Given the description of an element on the screen output the (x, y) to click on. 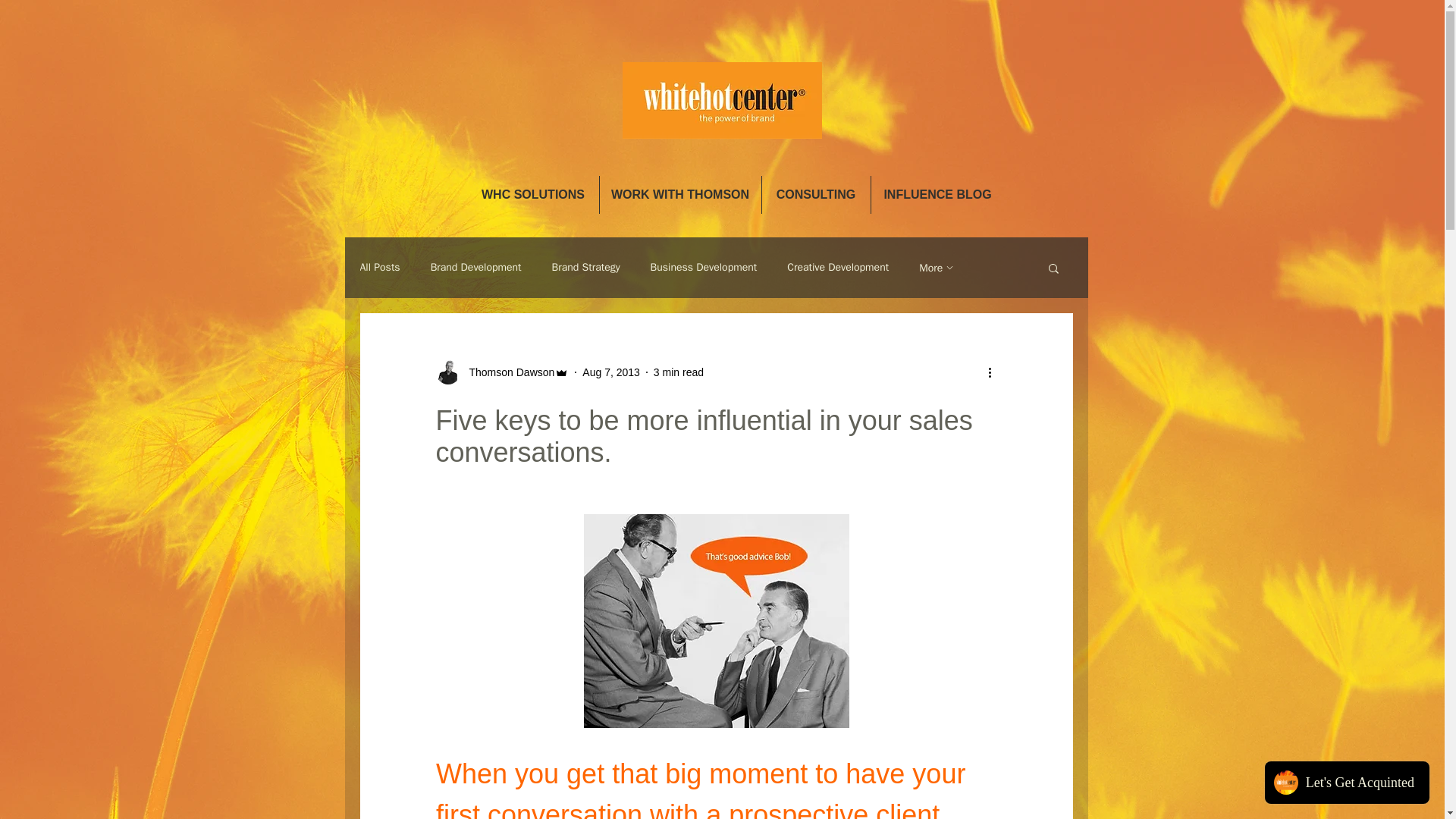
3 min read (678, 371)
INFLUENCE BLOG (937, 194)
Brand Strategy (585, 267)
CONSULTING (815, 194)
All Posts (378, 267)
Thomson Dawson (507, 371)
Aug 7, 2013 (611, 371)
WHC SOLUTIONS (532, 194)
WORK WITH THOMSON (679, 194)
Creative Development (837, 267)
Business Development (703, 267)
Thomson Dawson (502, 372)
Brand Development (475, 267)
